Given the description of an element on the screen output the (x, y) to click on. 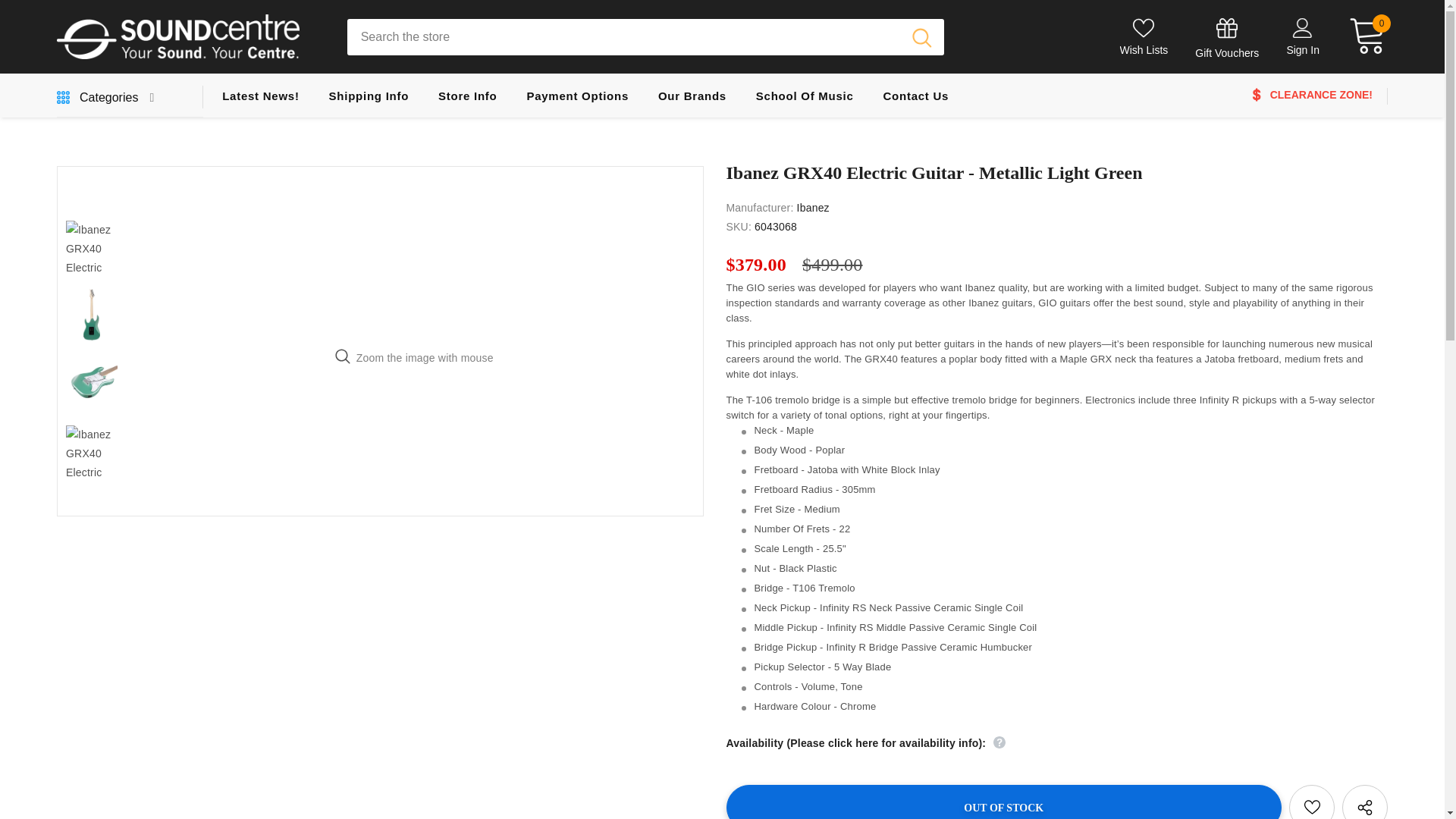
Gift Vouchers (1227, 39)
Logo (190, 36)
Sign In (1302, 50)
Wish Lists (1144, 36)
Out Of Stock (1004, 801)
